Given the description of an element on the screen output the (x, y) to click on. 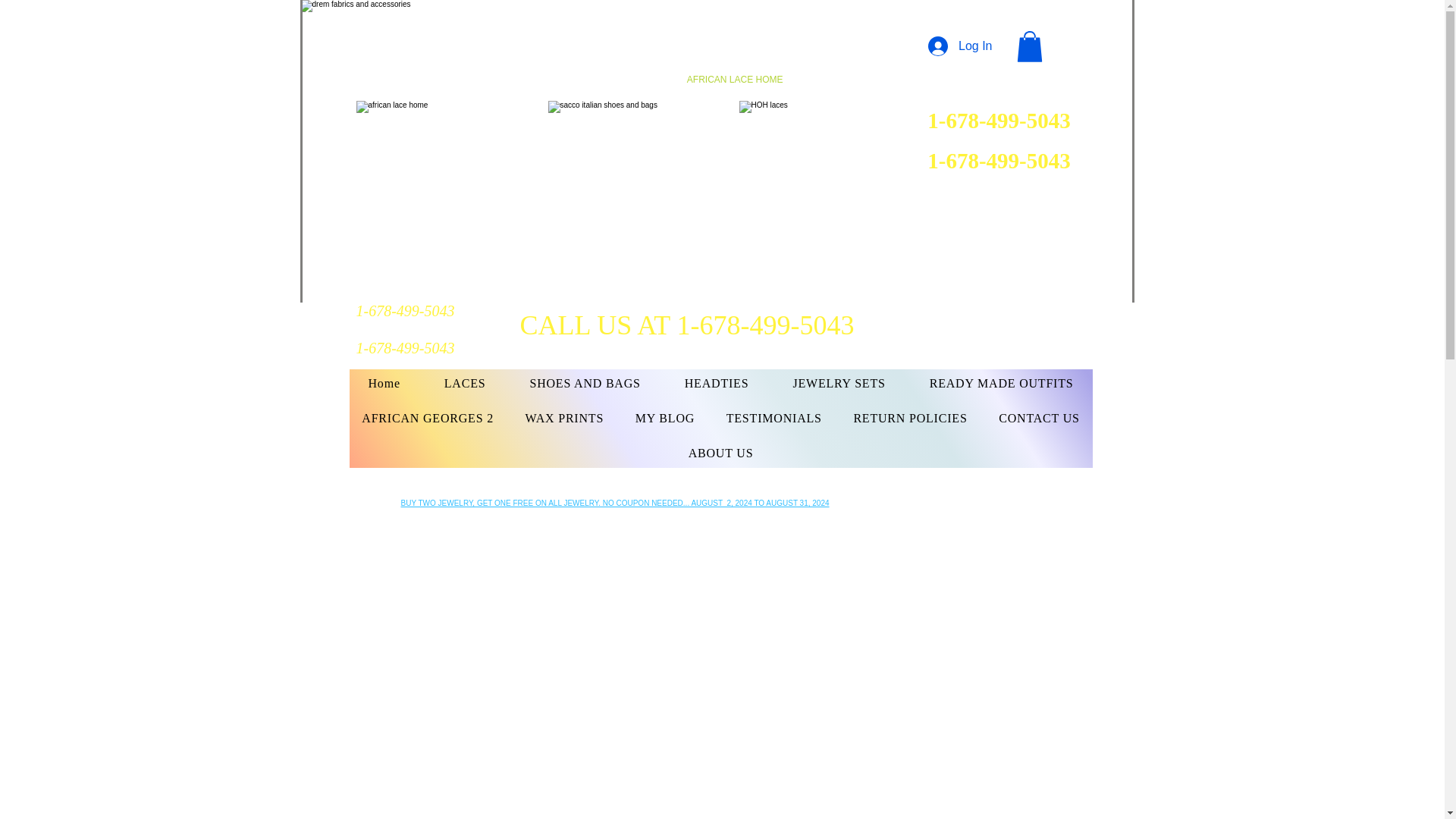
Log In (960, 45)
JEWELRY SETS (838, 383)
READY MADE OUTFITS (1002, 383)
SHOES AND BAGS (585, 383)
LACES (465, 383)
Home (384, 383)
HEADTIES (716, 383)
